Given the description of an element on the screen output the (x, y) to click on. 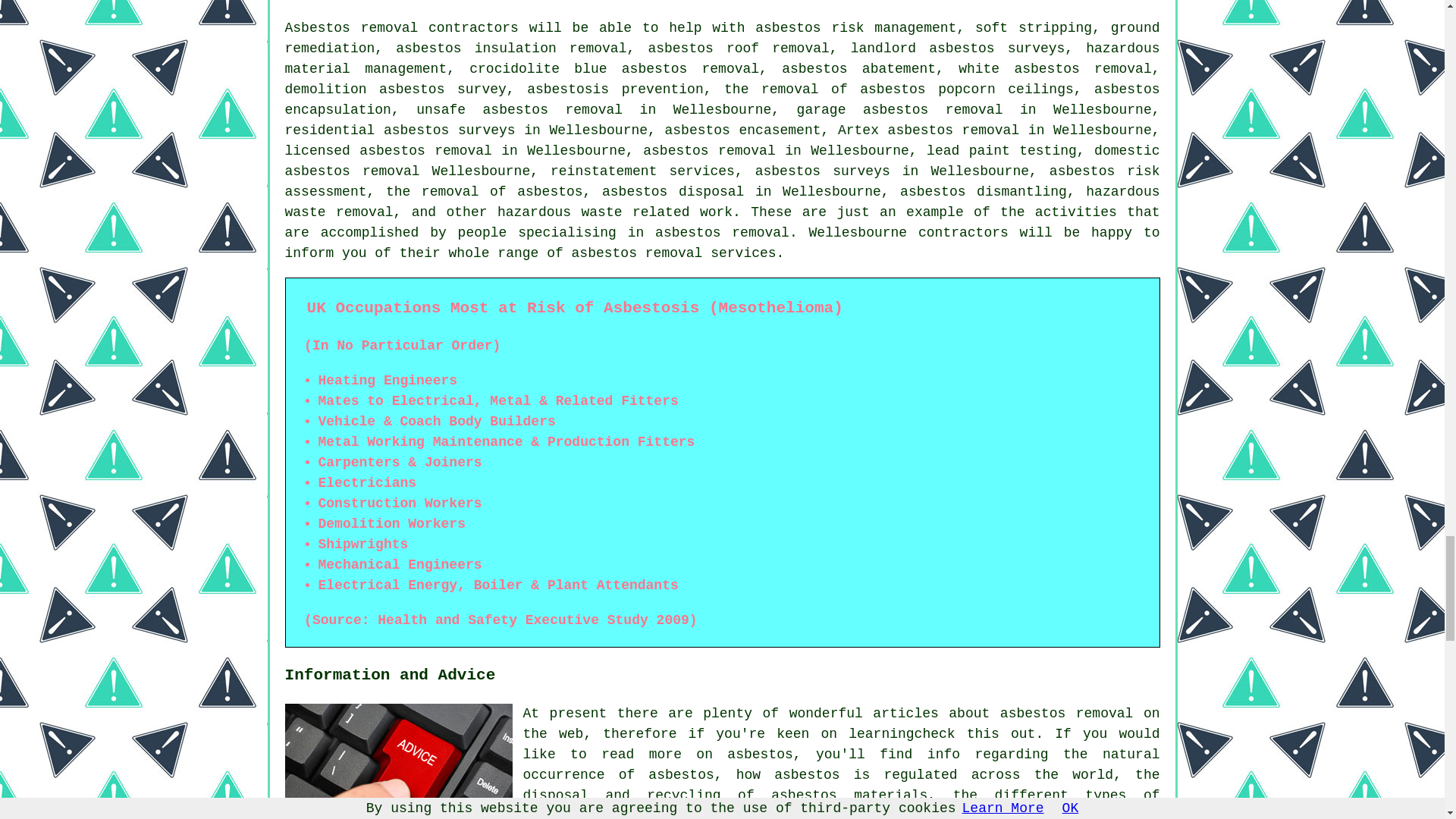
asbestos roof removal (737, 48)
asbestos encapsulation (722, 99)
Asbestos Removal Advice Wellesbourne (398, 761)
Asbestos removal (352, 28)
asbestos removal (637, 253)
